Given the description of an element on the screen output the (x, y) to click on. 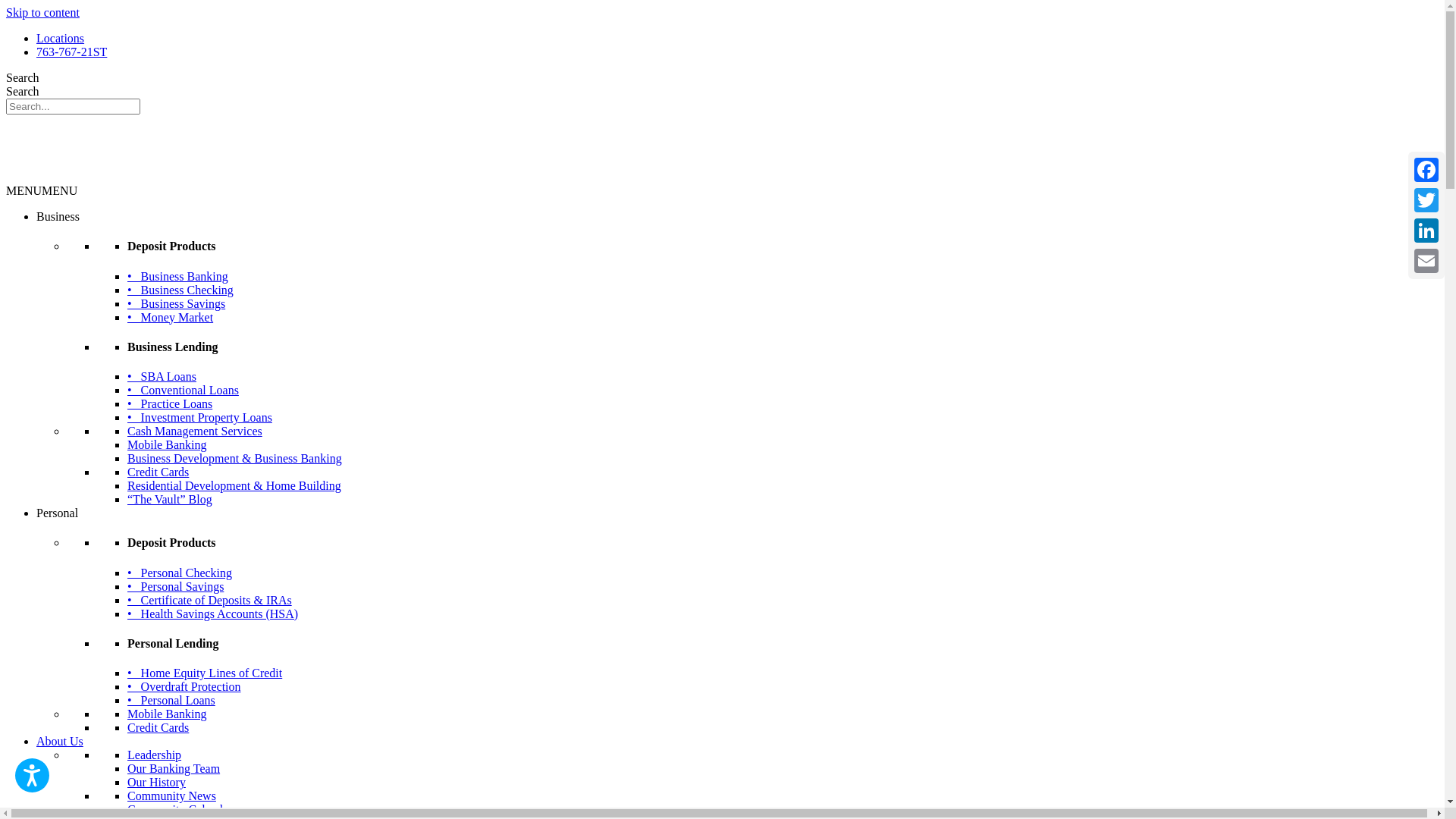
Skip to content Element type: text (42, 12)
763-767-21ST Element type: text (71, 51)
Email Element type: text (1426, 260)
Twitter Element type: text (1426, 200)
Business Development & Business Banking Element type: text (234, 457)
Leadership Element type: text (154, 754)
Facebook Element type: text (1426, 169)
Locations Element type: text (60, 37)
Mobile Banking Element type: text (166, 444)
Residential Development & Home Building Element type: text (234, 485)
Personal Element type: text (57, 512)
LinkedIn Element type: text (1426, 230)
Community News Element type: text (171, 795)
Business Element type: text (57, 216)
Cash Management Services Element type: text (194, 430)
Credit Cards Element type: text (157, 471)
Mobile Banking Element type: text (166, 713)
Our Banking Team Element type: text (173, 768)
Our History Element type: text (156, 781)
Community Calendar Element type: text (179, 809)
Credit Cards Element type: text (157, 727)
About Us Element type: text (59, 740)
